Given the description of an element on the screen output the (x, y) to click on. 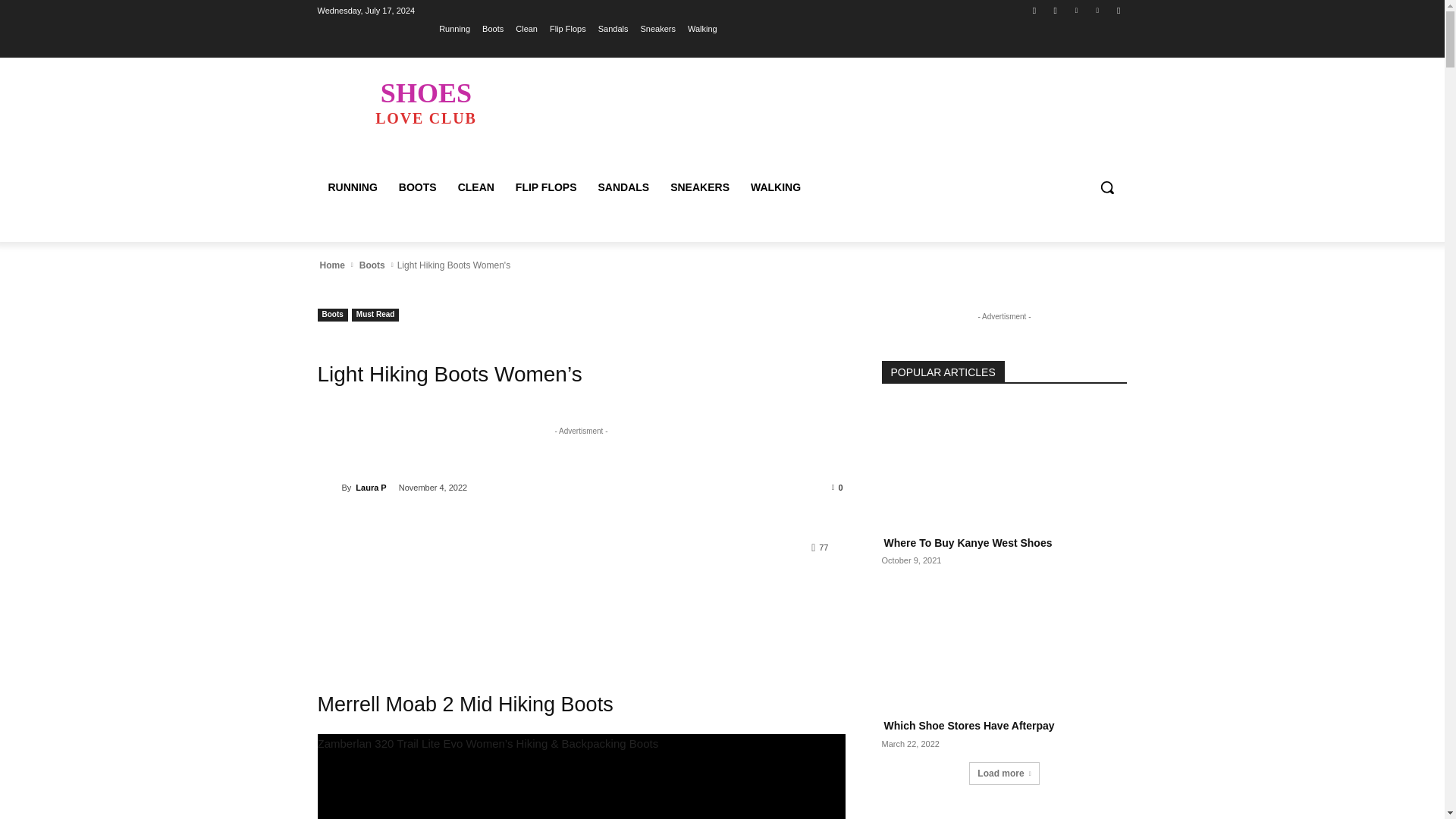
Home (331, 264)
FLIP FLOPS (546, 186)
CLEAN (475, 186)
BOOTS (417, 186)
Youtube (1117, 9)
Must Read (375, 314)
Vimeo (1097, 9)
Boots (371, 264)
Running (454, 28)
Sneakers (657, 28)
View all posts in Boots (371, 264)
Facebook (1034, 9)
Twitter (1075, 9)
SANDALS (622, 186)
